Given the description of an element on the screen output the (x, y) to click on. 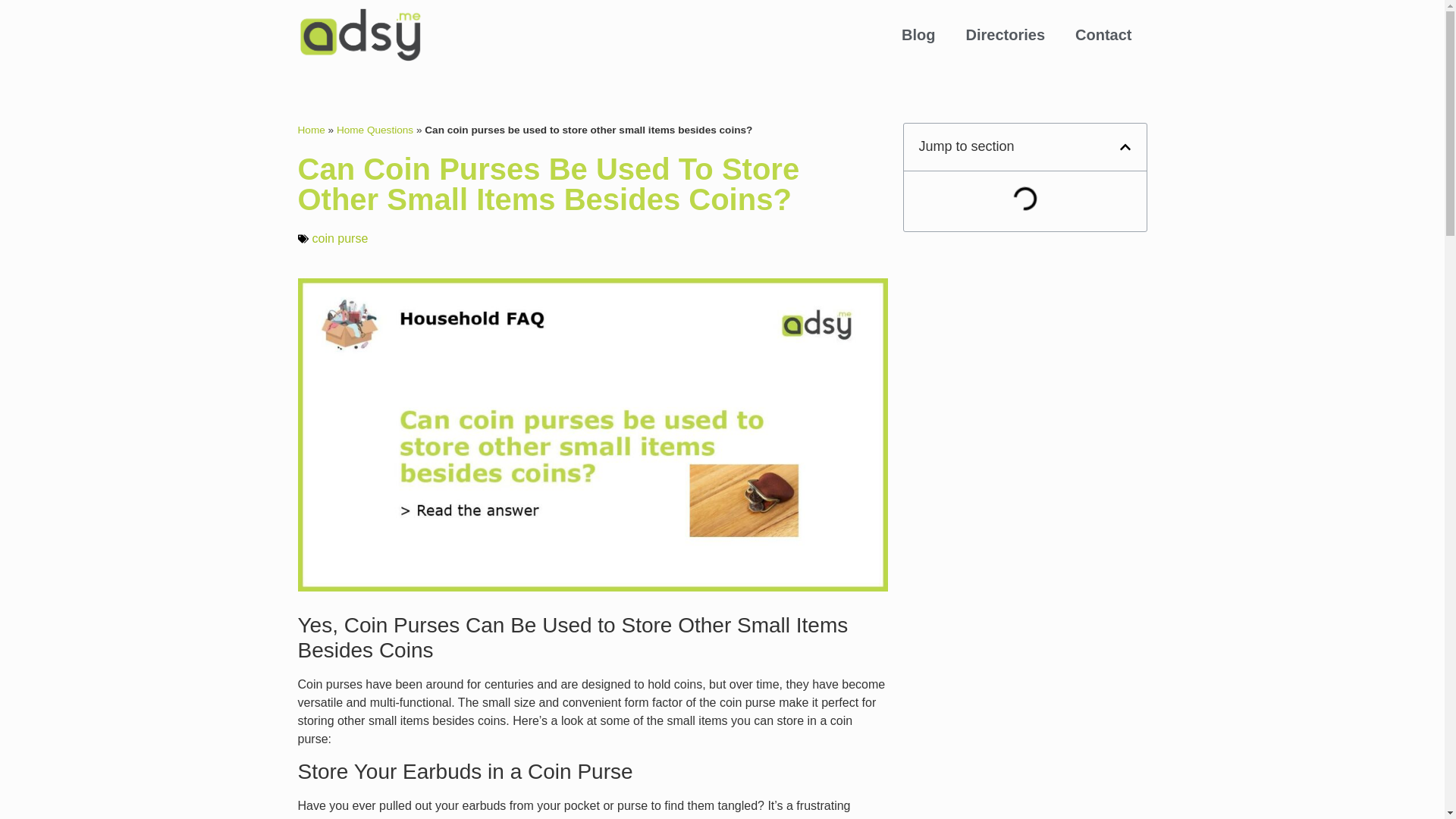
Directories (1005, 34)
Blog (918, 34)
Contact (1103, 34)
